Given the description of an element on the screen output the (x, y) to click on. 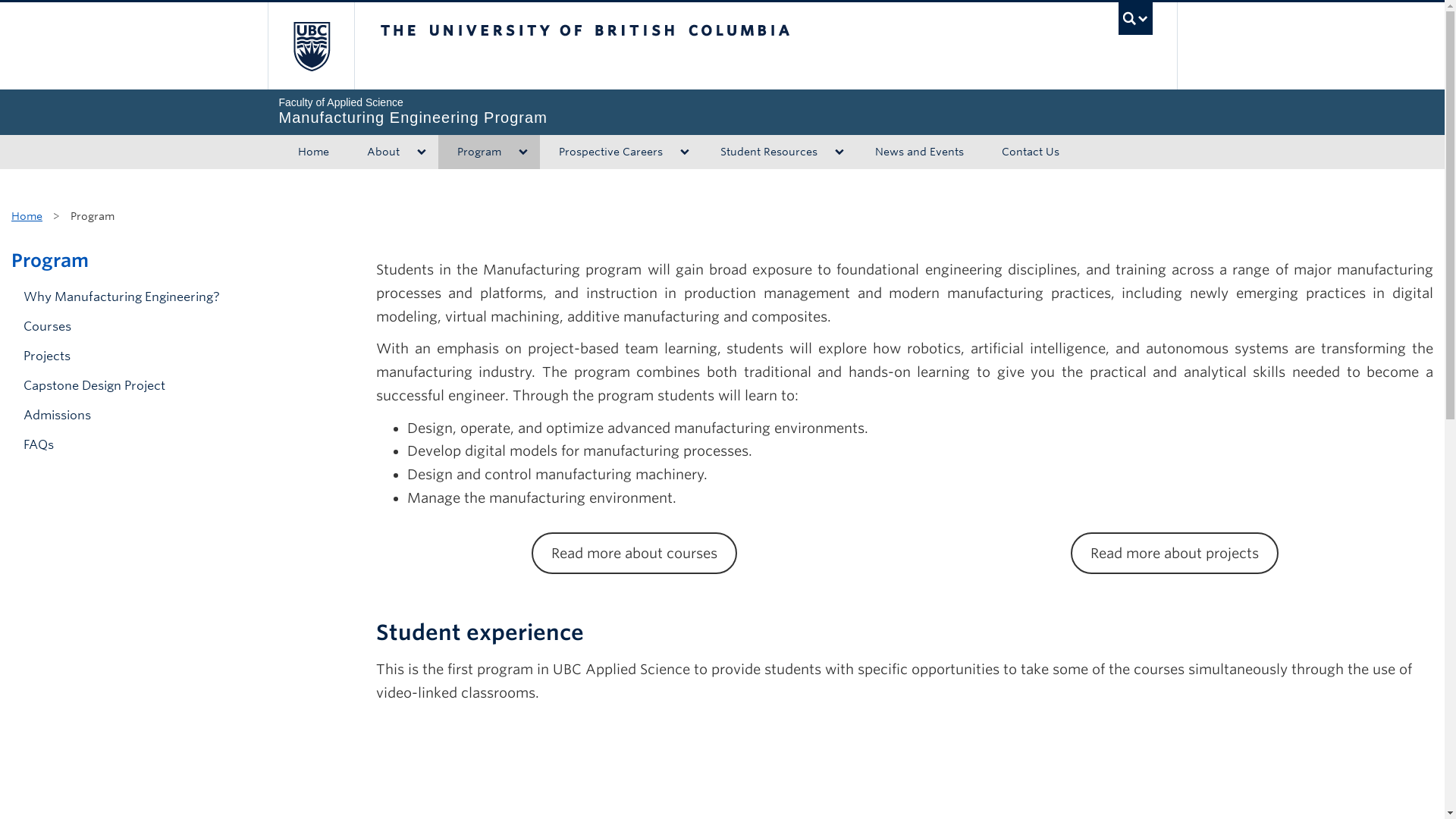
News and Events (918, 151)
Manufacturing Engineering Program (722, 110)
Home (26, 215)
Projects (175, 356)
The University of British Columbia (722, 110)
The University of British Columbia (635, 45)
Admissions (309, 45)
Contact Us (175, 415)
Manufacturing Engineering: Student Experience (1030, 151)
Program (903, 766)
UBC Search (472, 151)
Program (1135, 18)
Student Resources (49, 260)
Why Manufacturing Engineering? (761, 151)
